Given the description of an element on the screen output the (x, y) to click on. 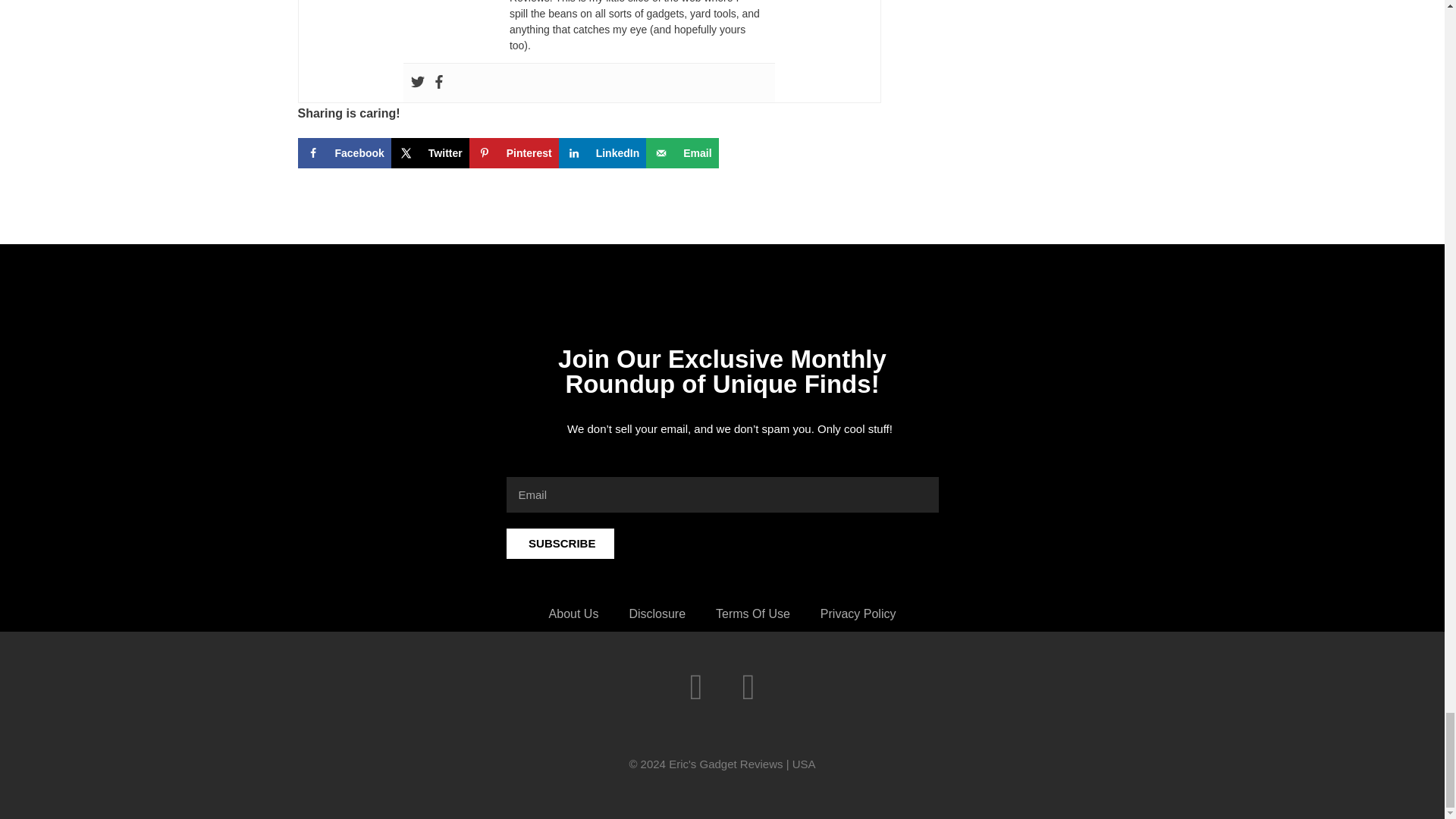
Twitter (417, 82)
Facebook (438, 82)
